Given the description of an element on the screen output the (x, y) to click on. 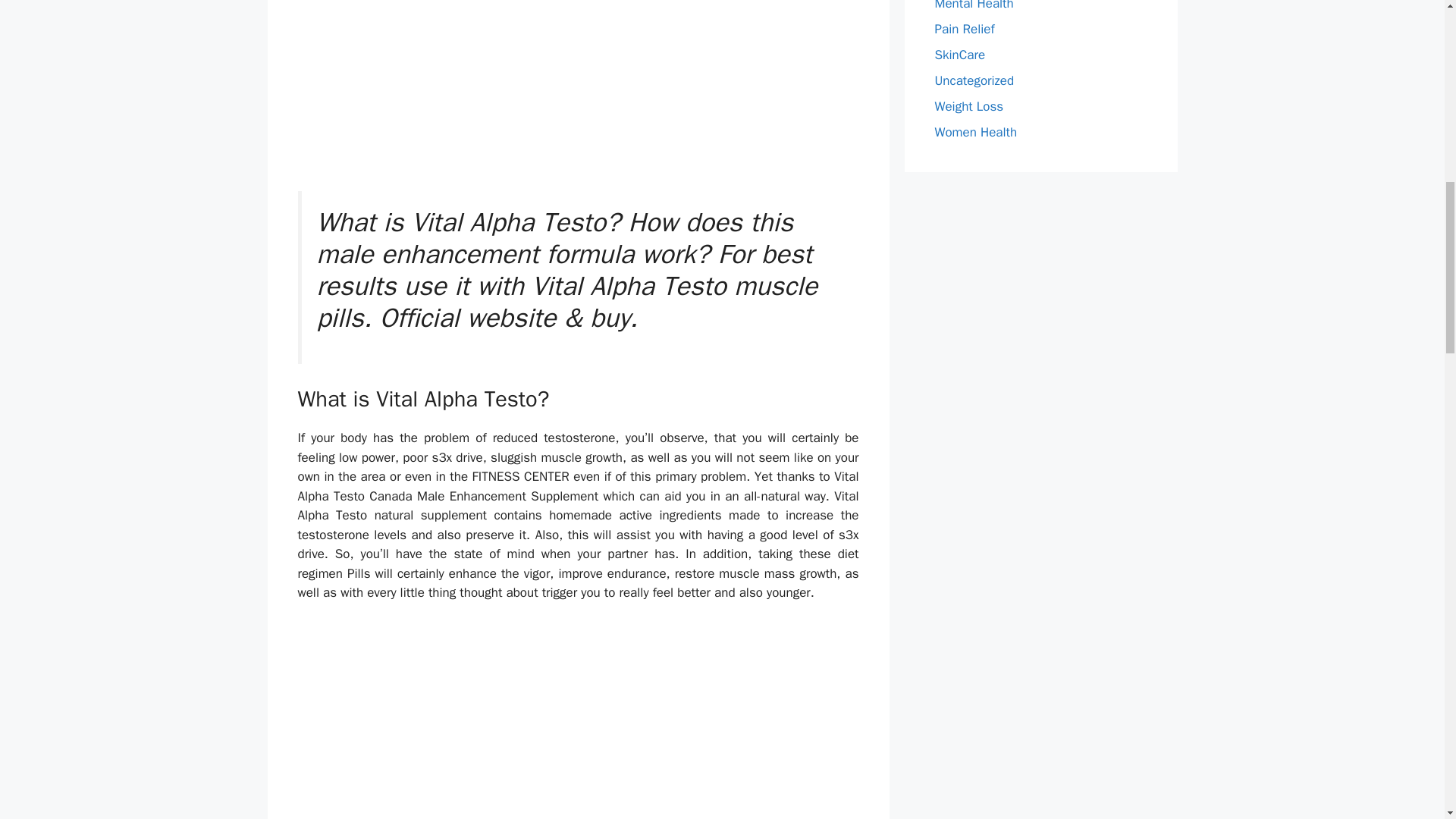
Uncategorized (973, 80)
Pain Relief (964, 28)
Mental Health (973, 5)
Weight Loss (968, 106)
SkinCare (959, 54)
